Given the description of an element on the screen output the (x, y) to click on. 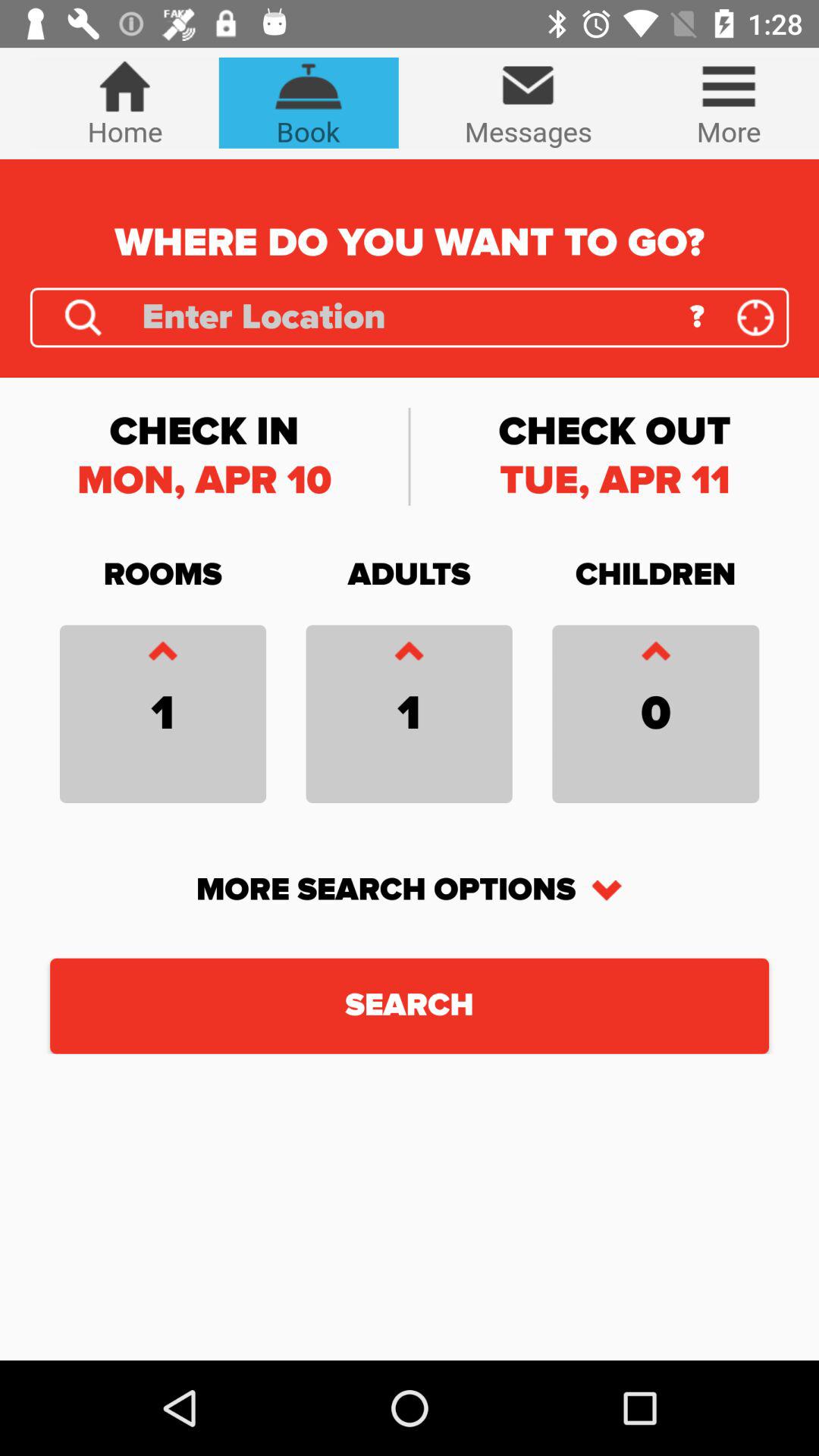
enter location (83, 317)
